Given the description of an element on the screen output the (x, y) to click on. 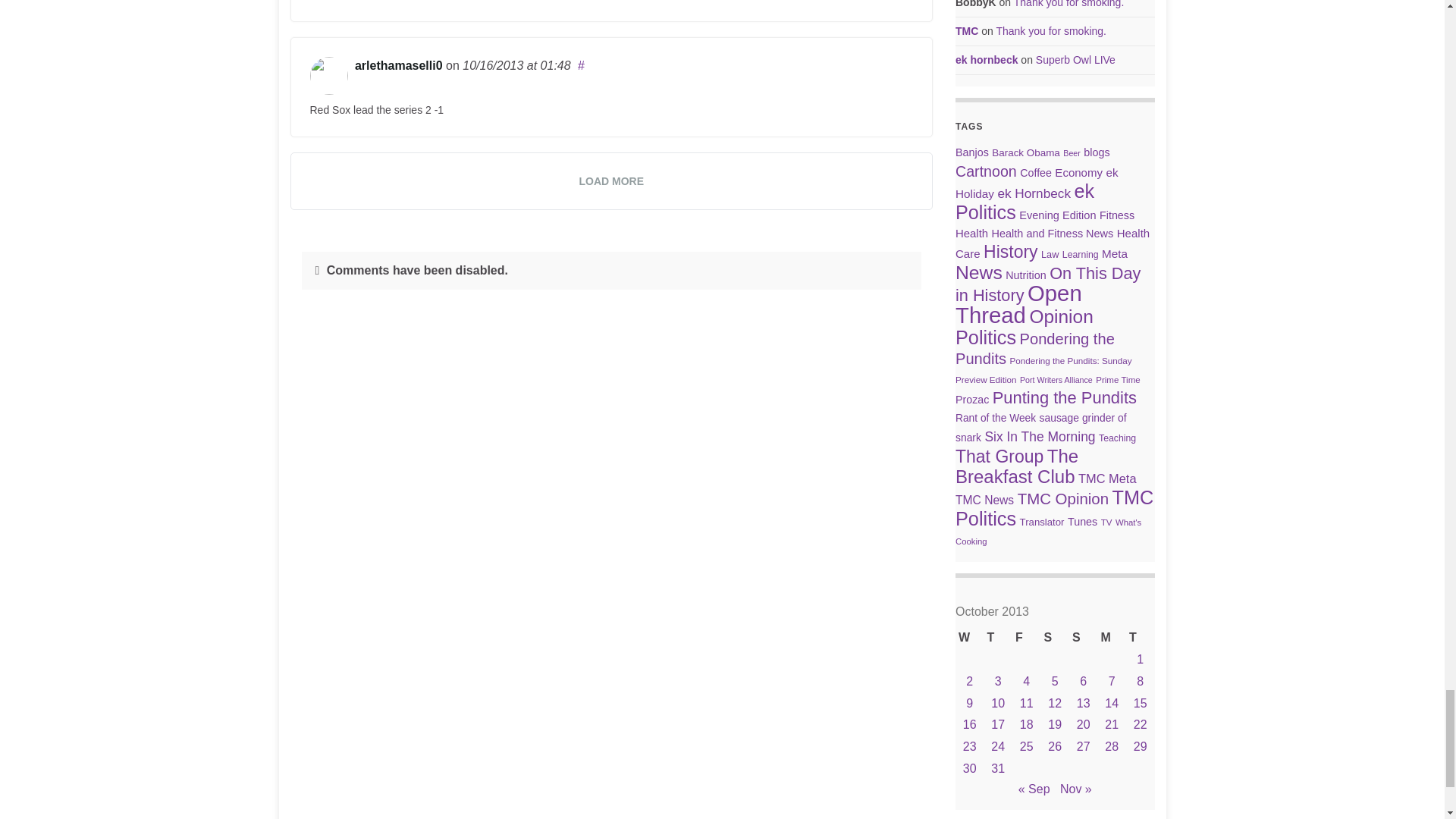
Friday (1026, 638)
Tuesday (1139, 638)
Sunday (1082, 638)
Monday (1111, 638)
Thursday (998, 638)
Wednesday (969, 638)
Saturday (1054, 638)
